Given the description of an element on the screen output the (x, y) to click on. 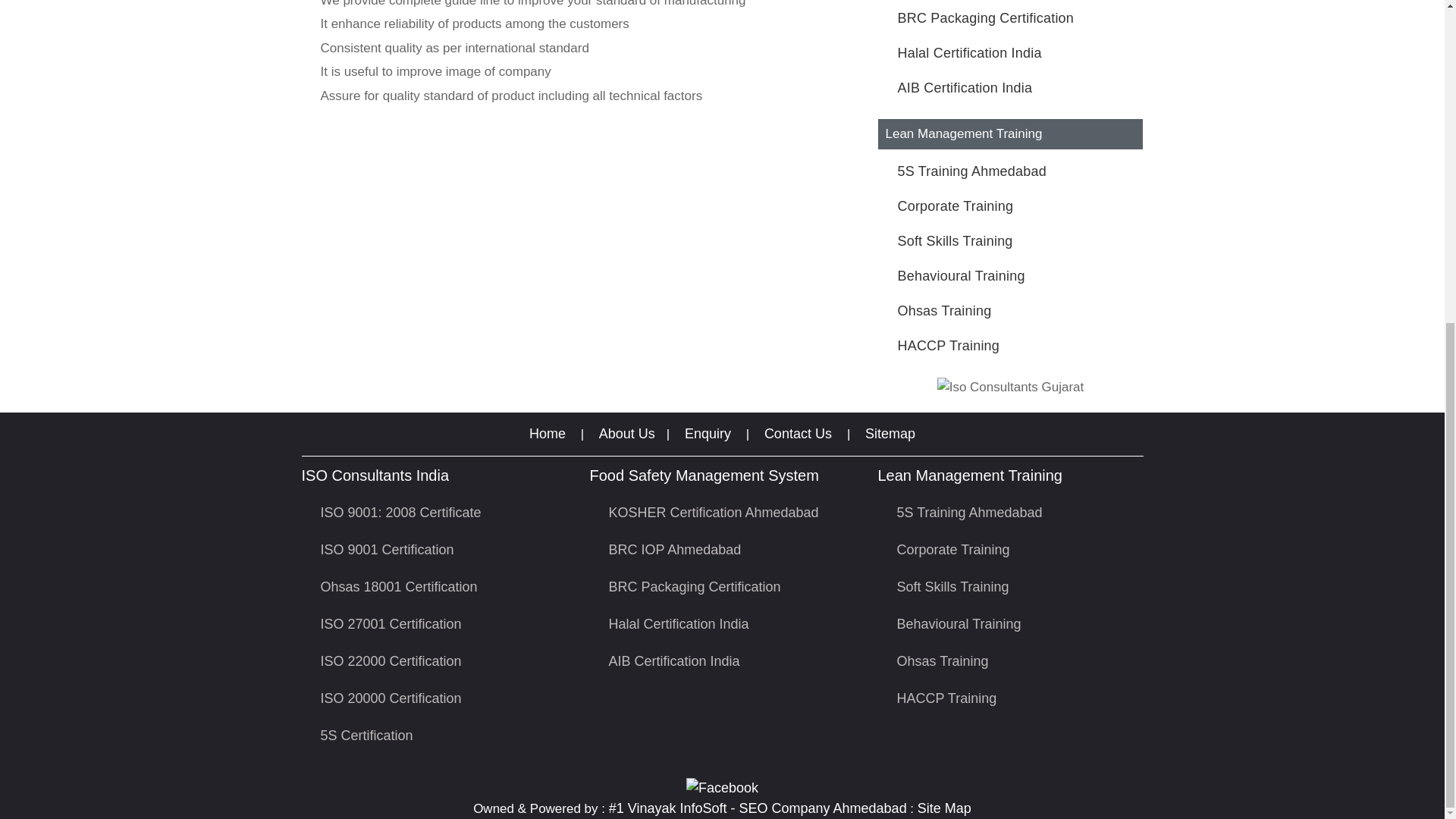
BRC Packaging Certification (986, 17)
Halal Certification India (970, 52)
Facebook (721, 787)
